Given the description of an element on the screen output the (x, y) to click on. 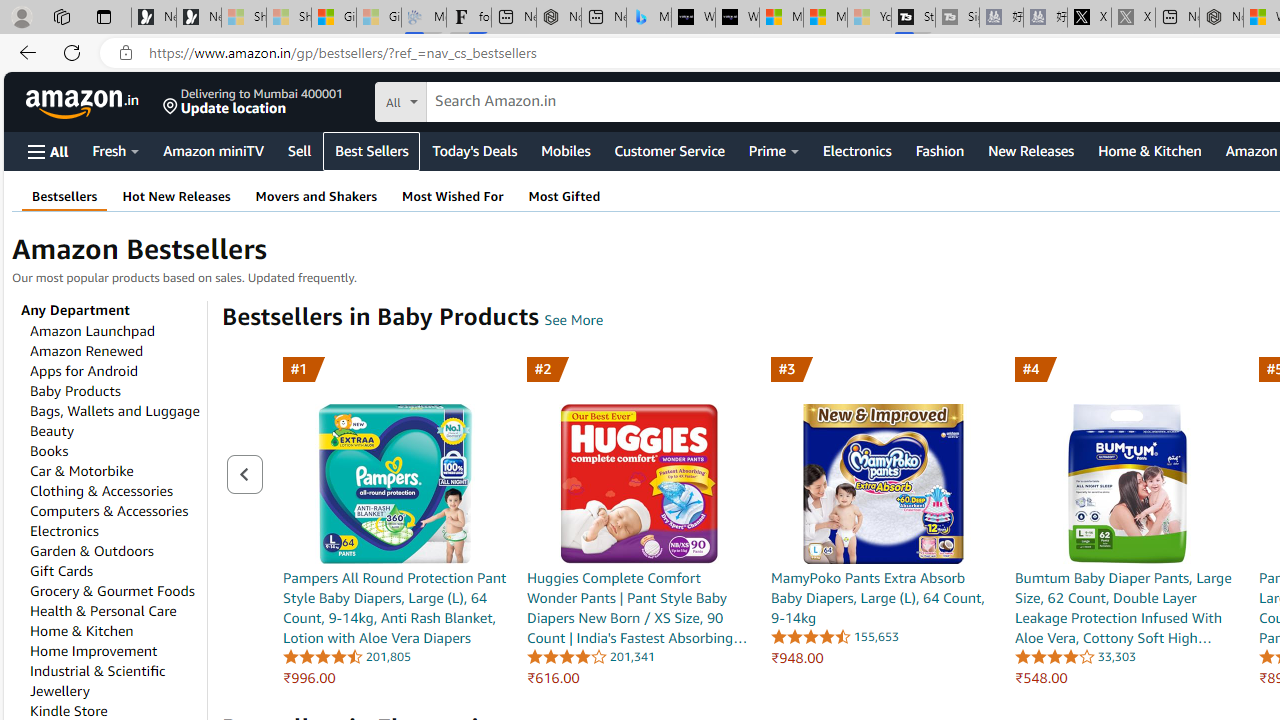
Electronics (63, 531)
Gift Cards (61, 571)
Microsoft Bing Travel - Shangri-La Hotel Bangkok (648, 17)
Nordace - My Account (1220, 17)
Hot New Releases (175, 196)
Amazon miniTV (213, 150)
Best Sellers (371, 151)
Bags, Wallets and Luggage (114, 410)
